Given the description of an element on the screen output the (x, y) to click on. 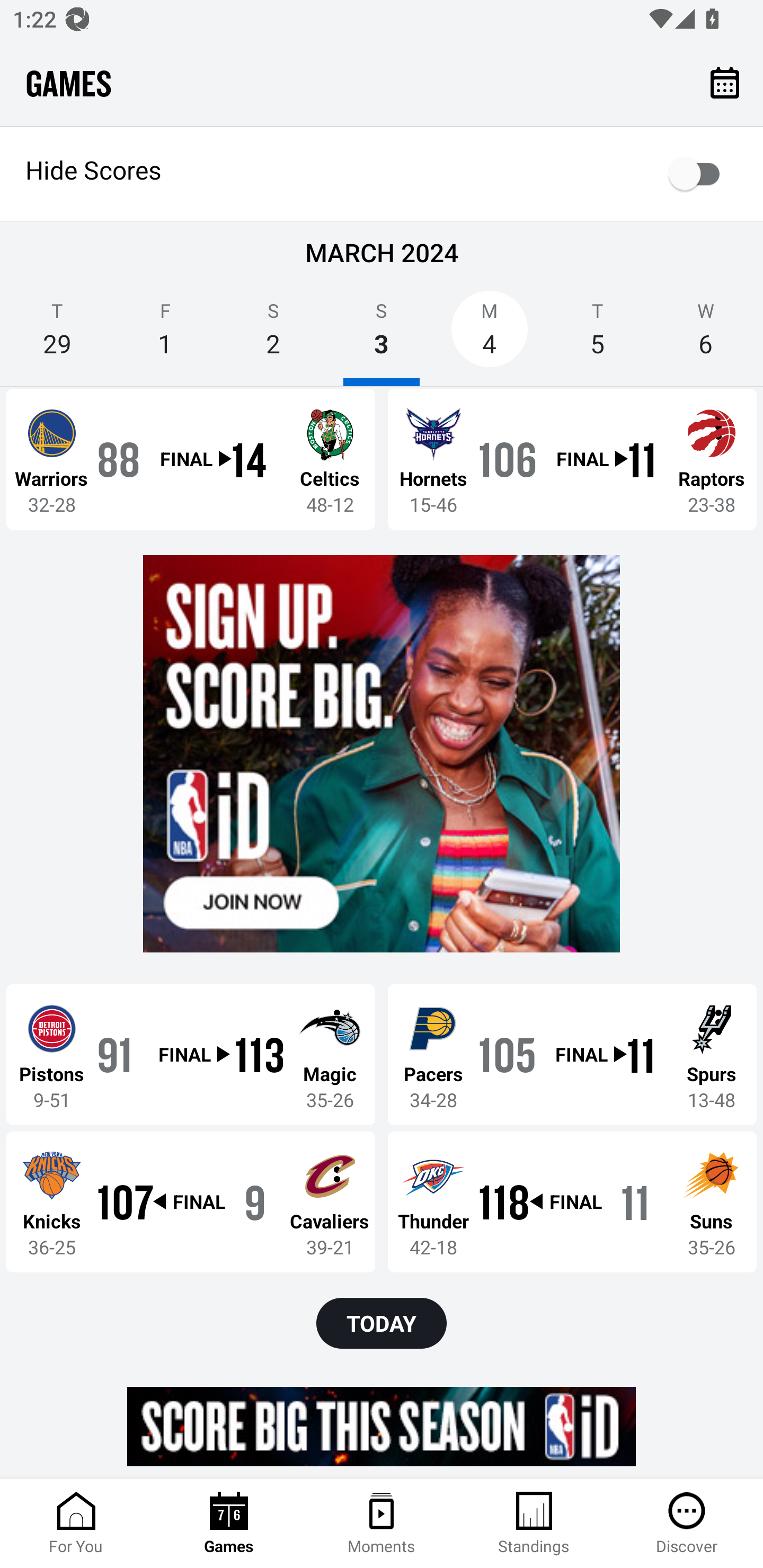
Calendar (724, 81)
Hide Scores (381, 174)
T 29 (57, 334)
F 1 (165, 334)
S 2 (273, 334)
S 3 (381, 334)
M 4 (489, 334)
T 5 (597, 334)
W 6 (705, 334)
TODAY (381, 1323)
For You (76, 1523)
Moments (381, 1523)
Standings (533, 1523)
Discover (686, 1523)
